Given the description of an element on the screen output the (x, y) to click on. 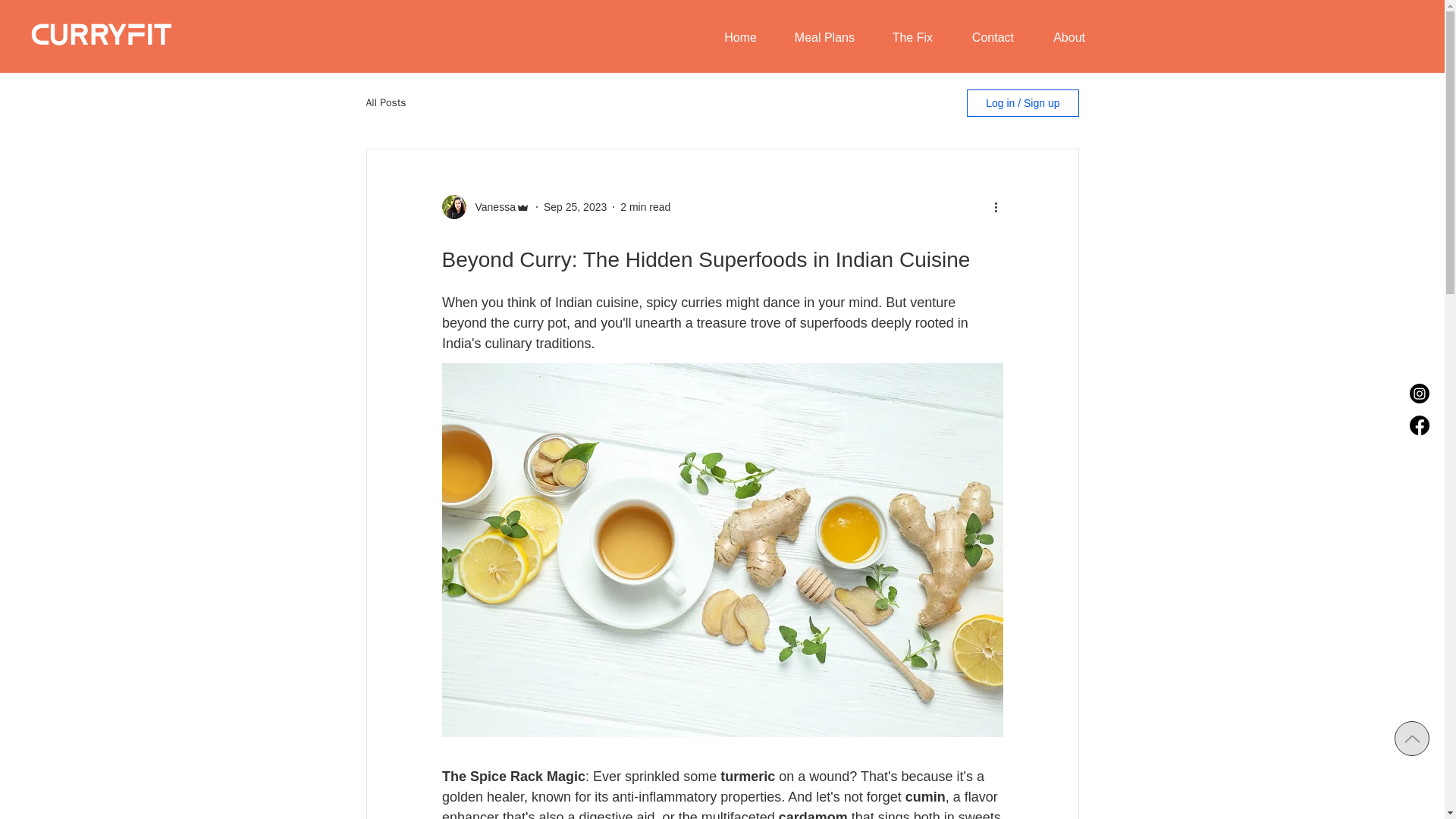
Contact (984, 37)
Home (733, 37)
2 min read (644, 205)
The Fix (904, 37)
All Posts (385, 102)
Sep 25, 2023 (575, 205)
About (1060, 37)
Vanessa (490, 206)
Meal Plans (817, 37)
